Given the description of an element on the screen output the (x, y) to click on. 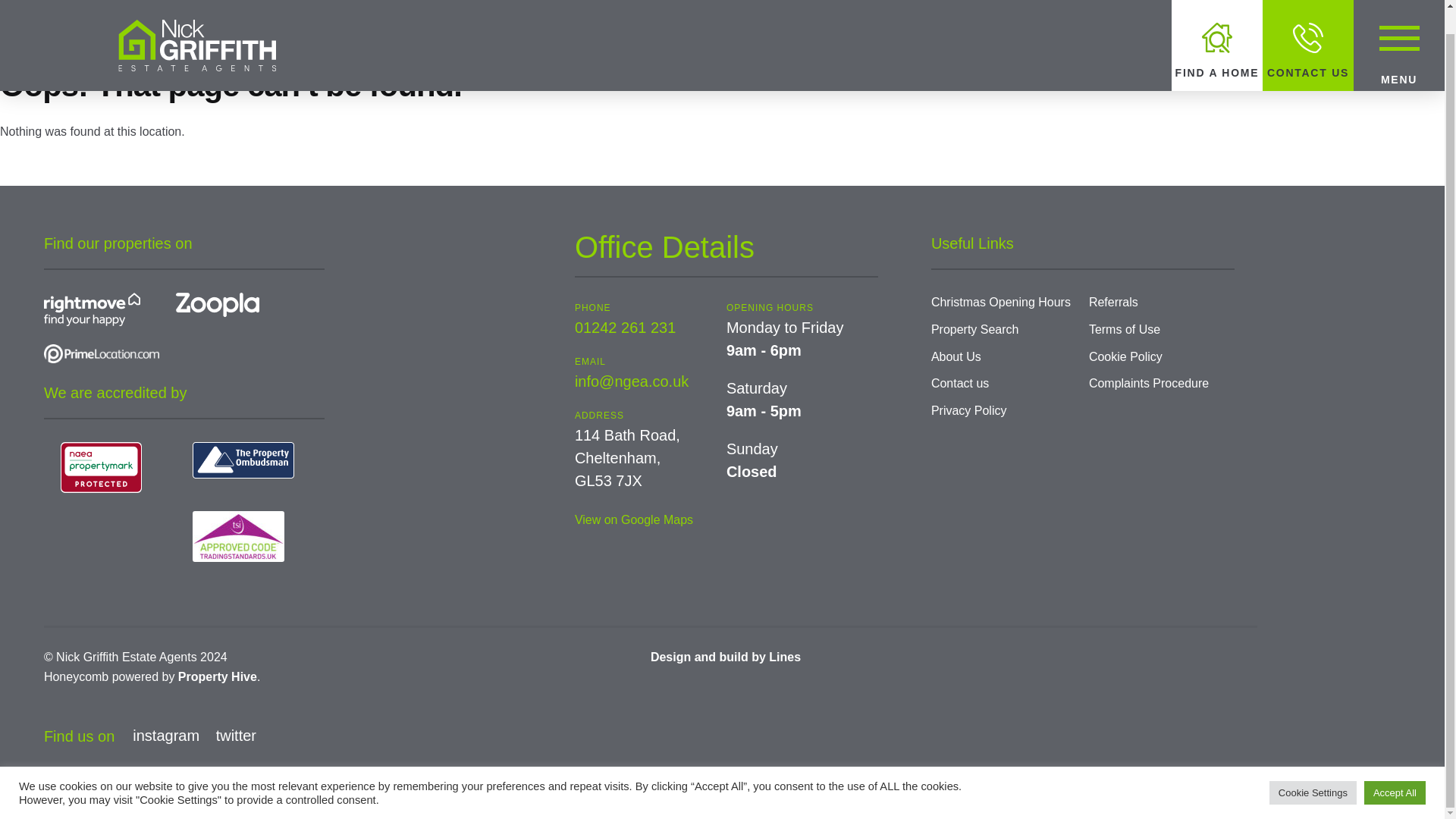
About Us (956, 356)
Cookie Settings (1312, 768)
Website design, build and CMS by Lines (725, 656)
Privacy Policy (969, 410)
CONTACT US (1308, 33)
01242 261 231 (625, 327)
Property Search (975, 328)
Property Hive (217, 676)
FIND A HOME (1217, 33)
